Given the description of an element on the screen output the (x, y) to click on. 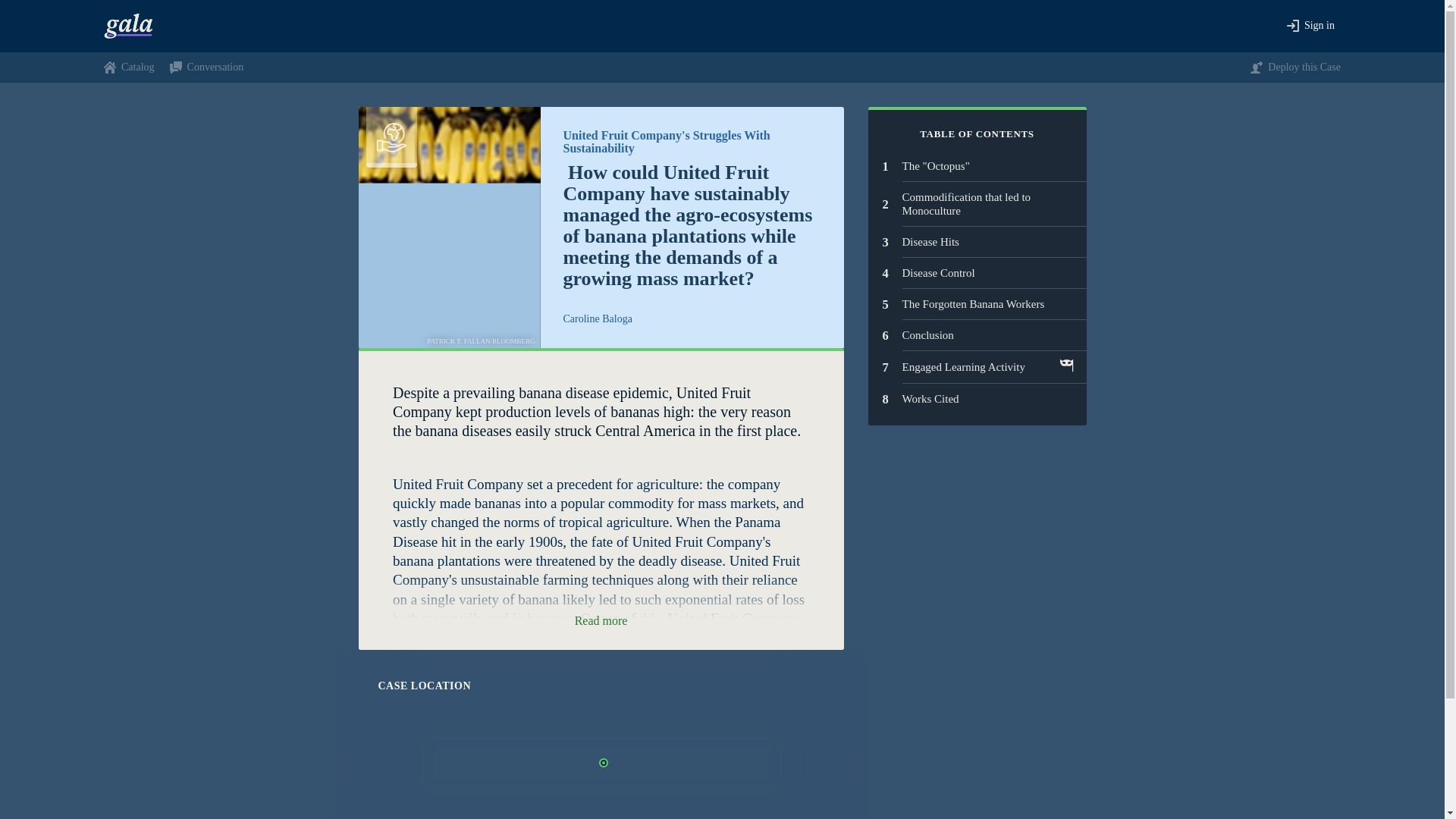
Sign in (976, 398)
Catalog (976, 165)
Conversation (1310, 25)
Read more (976, 366)
Deploy this Case (976, 334)
